Given the description of an element on the screen output the (x, y) to click on. 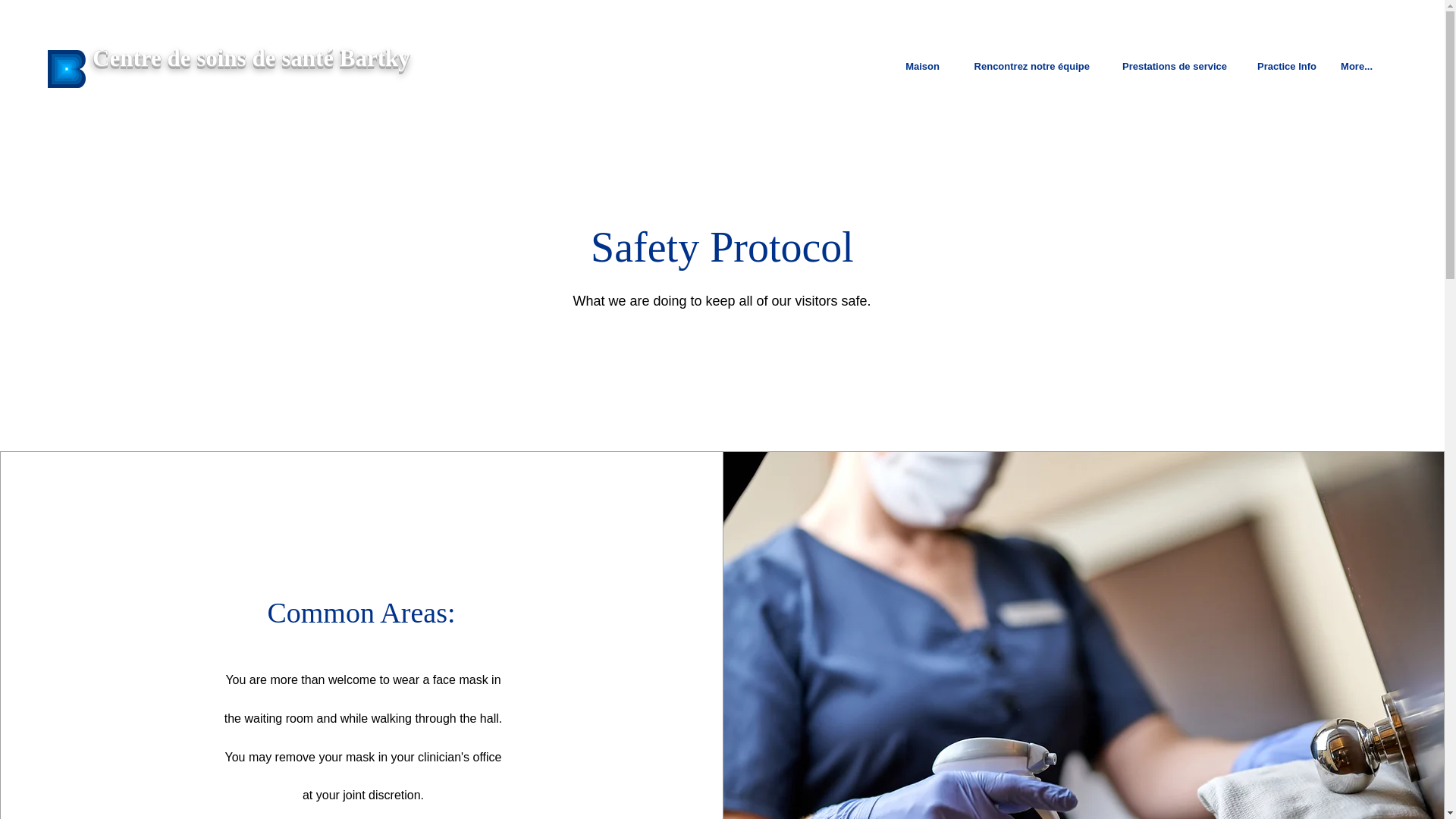
Maison (921, 66)
Practice Info (1283, 66)
Prestations de service (1170, 66)
